Given the description of an element on the screen output the (x, y) to click on. 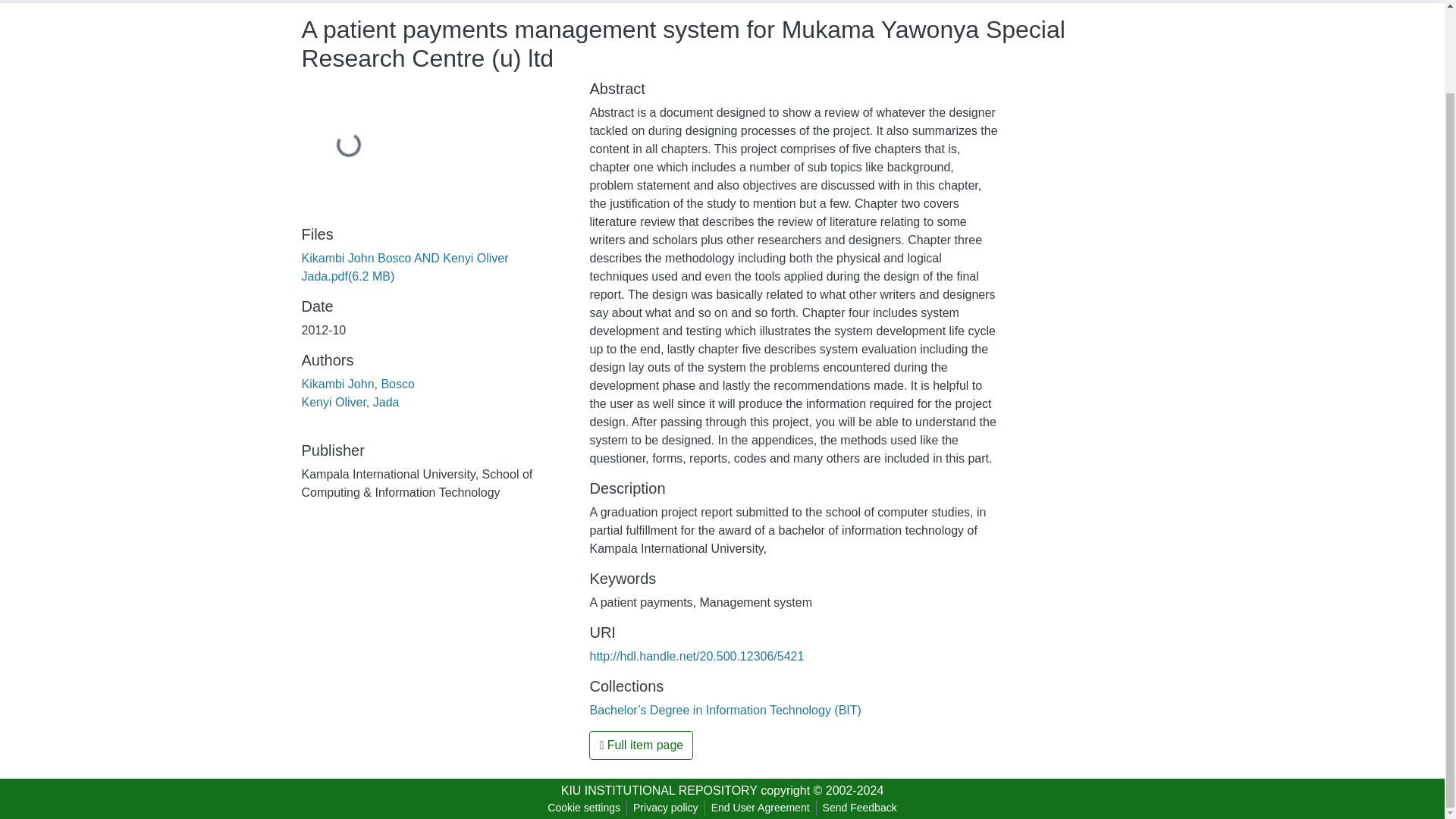
Kikambi John, Bosco (357, 383)
Cookie settings (583, 807)
Kenyi Oliver, Jada (349, 401)
End User Agreement (759, 807)
KIU INSTITUTIONAL REPOSITORY (658, 789)
Full item page (641, 745)
Privacy policy (665, 807)
Send Feedback (859, 807)
